Given the description of an element on the screen output the (x, y) to click on. 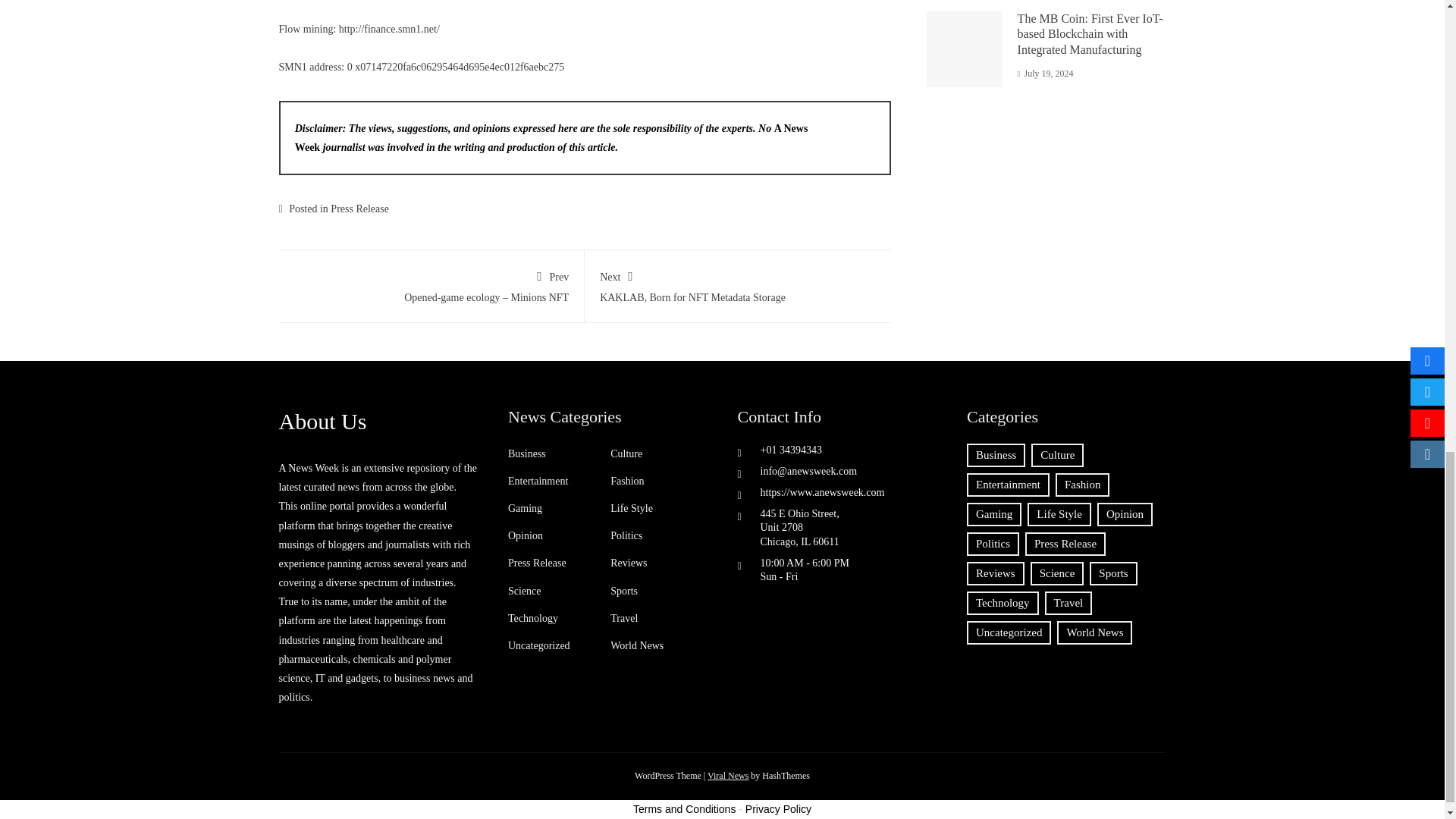
Opinion (525, 535)
Reviews (628, 563)
Sports (623, 590)
Fashion (626, 481)
Gaming (524, 508)
Science (524, 590)
Download Viral News (727, 775)
Entertainment (537, 481)
Press Release (359, 208)
Business (527, 454)
Press Release (537, 563)
Culture (626, 454)
Politics (626, 535)
Life Style (631, 508)
